Given the description of an element on the screen output the (x, y) to click on. 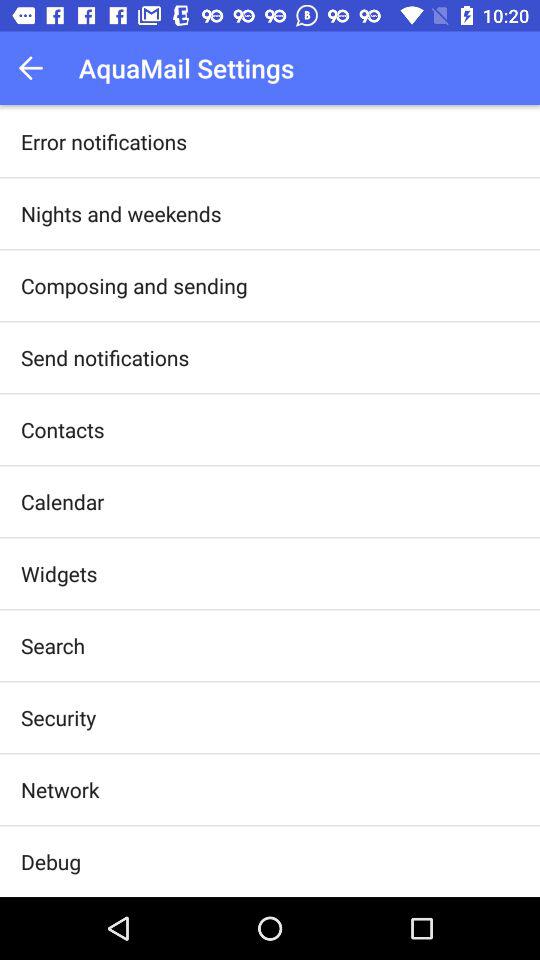
launch the send notifications app (105, 357)
